Given the description of an element on the screen output the (x, y) to click on. 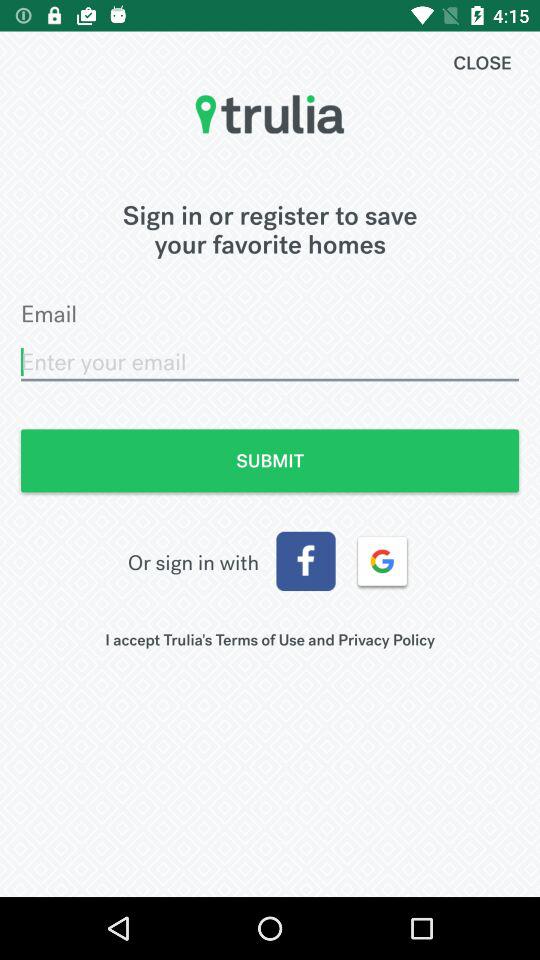
press the i accept trulia item (270, 639)
